Given the description of an element on the screen output the (x, y) to click on. 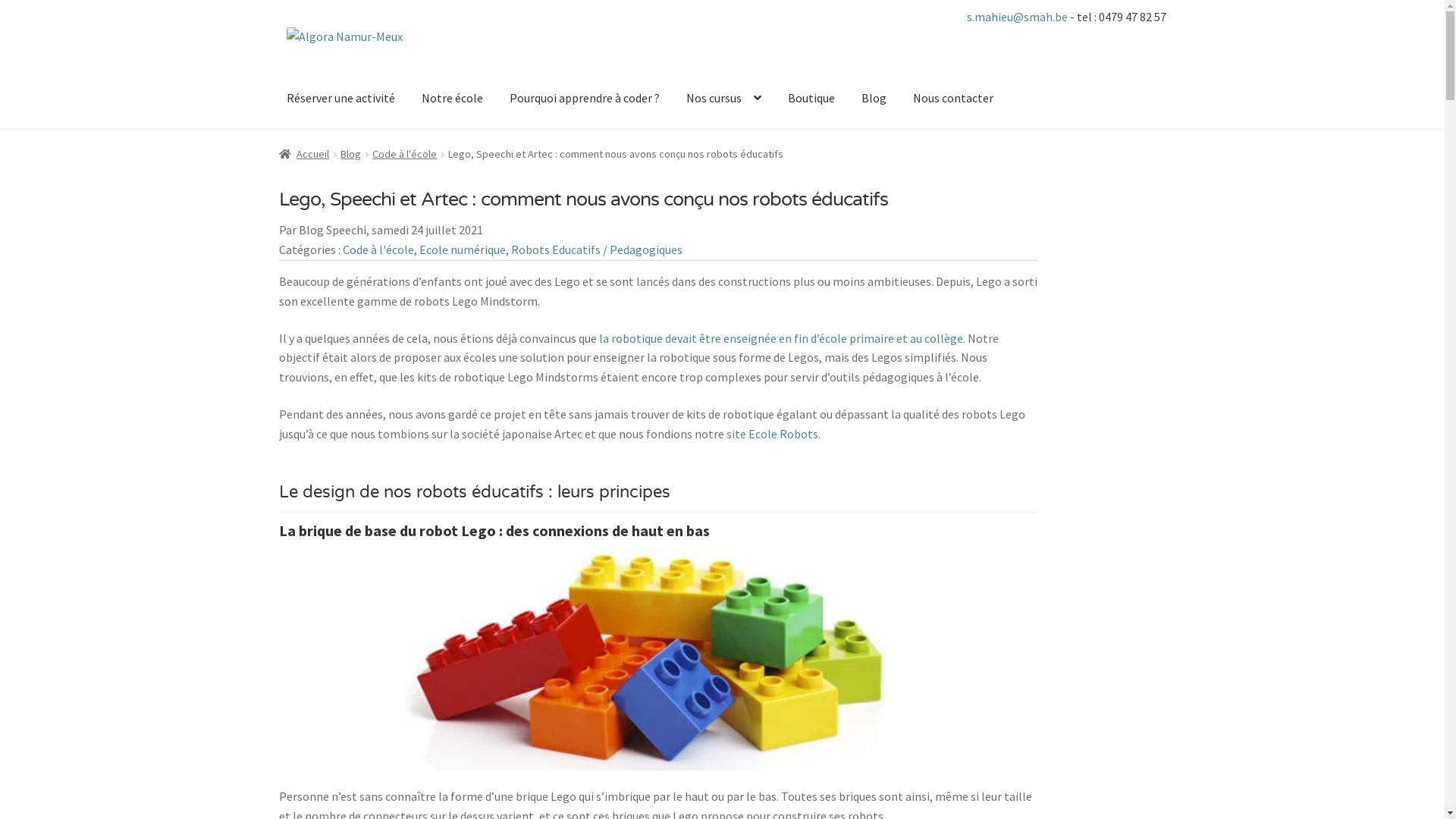
Blog Element type: text (873, 98)
Boutique Element type: text (810, 98)
Robots Educatifs / Pedagogiques Element type: text (596, 249)
Nos cursus Element type: text (722, 98)
site Ecole Robots Element type: text (772, 433)
Blog Element type: text (350, 153)
Accueil Element type: text (304, 153)
Nous contacter Element type: text (952, 98)
s.mahieu@smah.be Element type: text (1017, 16)
